Given the description of an element on the screen output the (x, y) to click on. 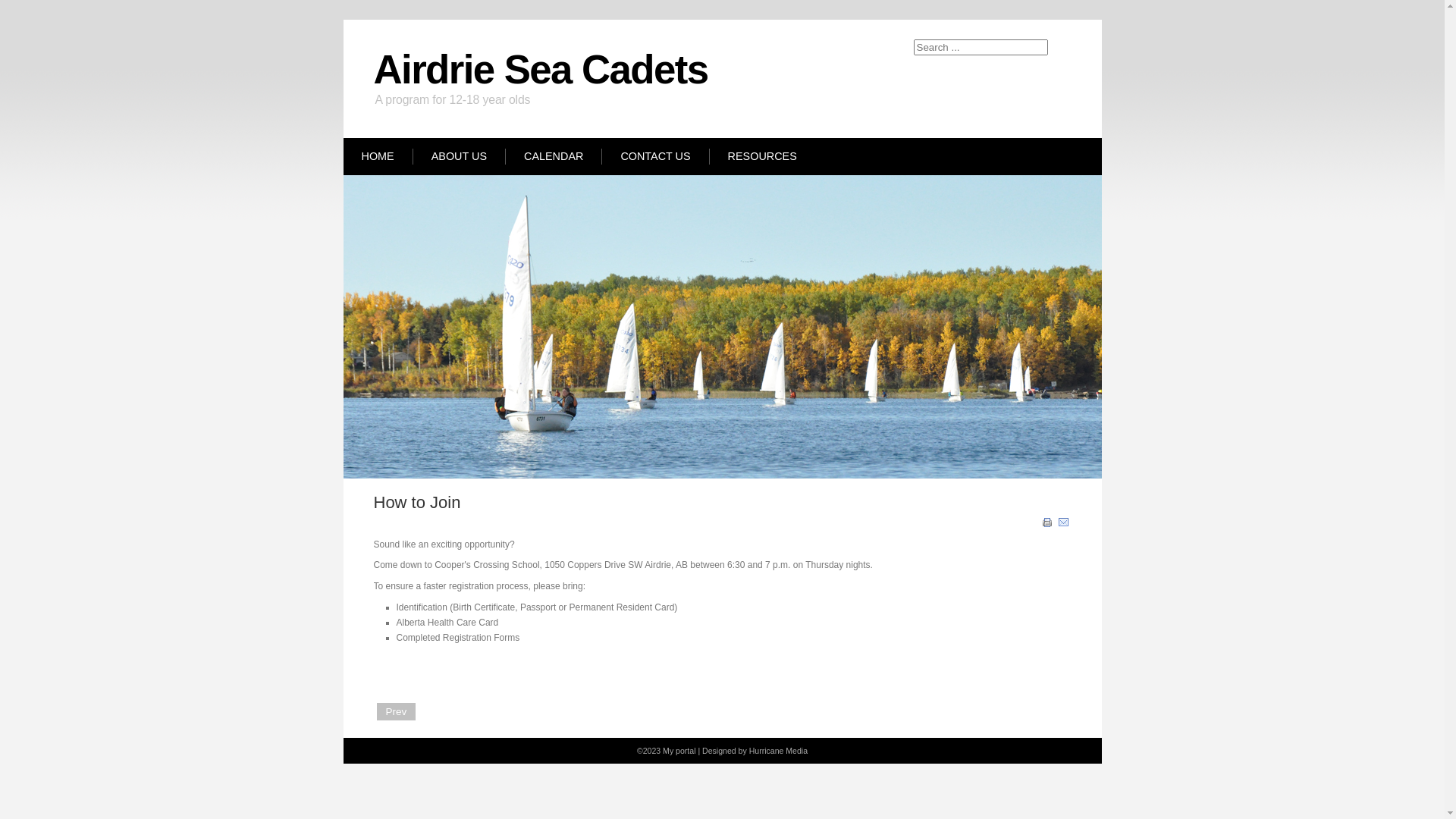
Designed by Hurricane Element type: text (743, 750)
Prev Element type: text (395, 711)
ABOUT US Element type: text (458, 155)
HOME Element type: text (377, 155)
Media Element type: text (796, 750)
CONTACT US Element type: text (654, 155)
RESOURCES Element type: text (762, 155)
Print article < How to Join > Element type: hover (1048, 525)
Email this link to a friend Element type: hover (1063, 525)
Airdrie Sea Cadets Element type: text (540, 69)
CALENDAR Element type: text (553, 155)
